Given the description of an element on the screen output the (x, y) to click on. 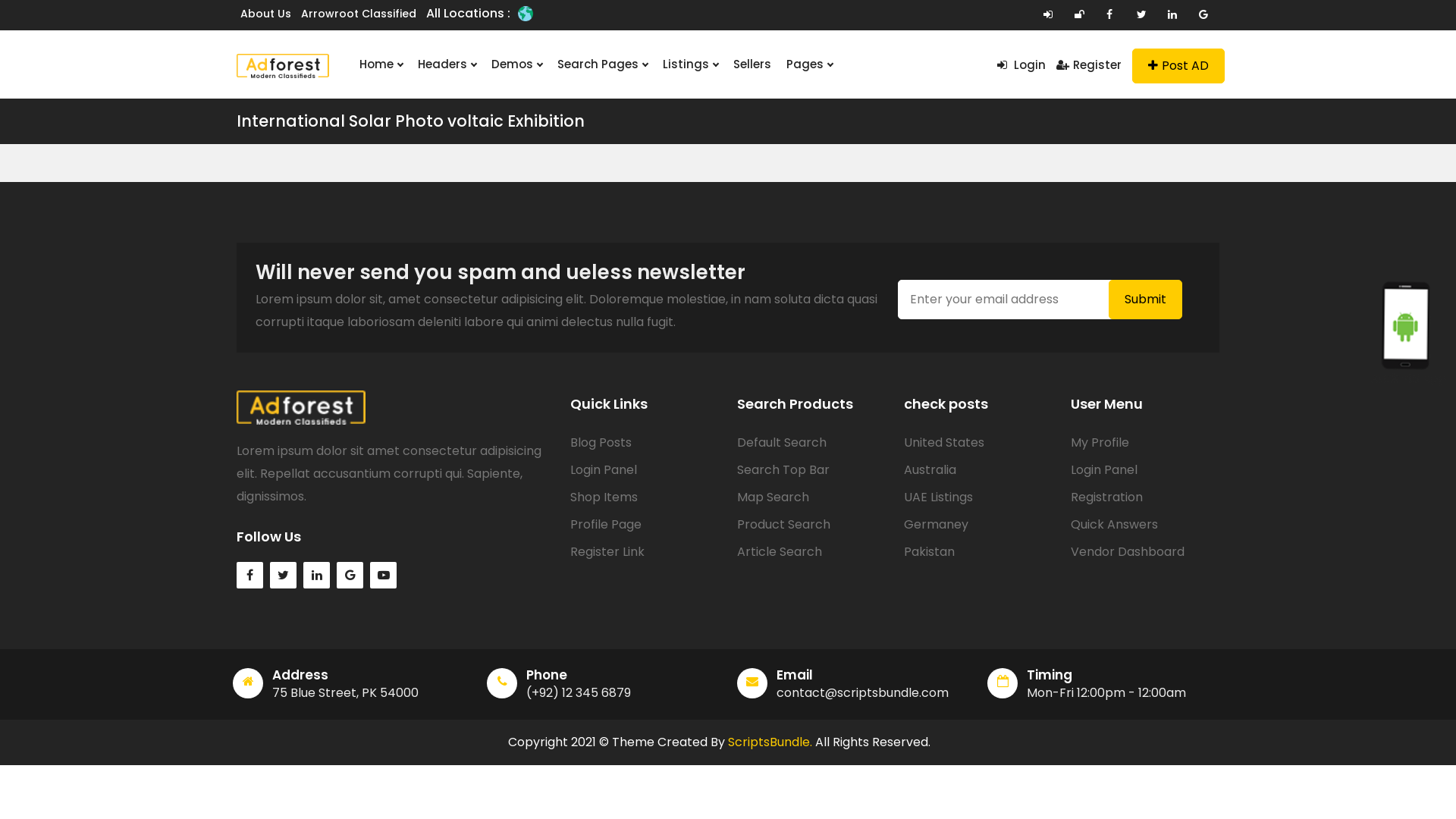
Register Link Element type: text (607, 551)
About Us Element type: text (265, 13)
UAE Listings Element type: text (937, 496)
Listings Element type: text (690, 64)
Map Search Element type: text (773, 496)
Login Panel Element type: text (1103, 469)
Login Element type: text (1021, 64)
Shop Items Element type: text (603, 496)
My Profile Element type: text (1099, 442)
United States Element type: text (943, 442)
ScriptsBundle. Element type: text (770, 741)
Default Search Element type: text (781, 442)
Pages Element type: text (809, 64)
Login Panel Element type: text (603, 469)
Sellers Element type: text (751, 64)
Post AD Element type: text (1178, 65)
Demos Element type: text (516, 64)
Search Top Bar Element type: text (783, 469)
Blog Posts Element type: text (600, 442)
International Solar Photo voltaic Exhibition Element type: text (410, 120)
Product Search Element type: text (783, 524)
Pakistan Element type: text (928, 551)
Profile Page Element type: text (605, 524)
Vendor Dashboard Element type: text (1127, 551)
Article Search Element type: text (779, 551)
Register Element type: text (1088, 64)
Australia Element type: text (929, 469)
Headers Element type: text (446, 64)
Registration Element type: text (1106, 496)
Arrowroot Classified Element type: text (358, 13)
Search Pages Element type: text (602, 64)
Android App Element type: text (1408, 328)
Germaney Element type: text (935, 524)
Home Element type: text (380, 64)
Quick Answers Element type: text (1113, 524)
